Given the description of an element on the screen output the (x, y) to click on. 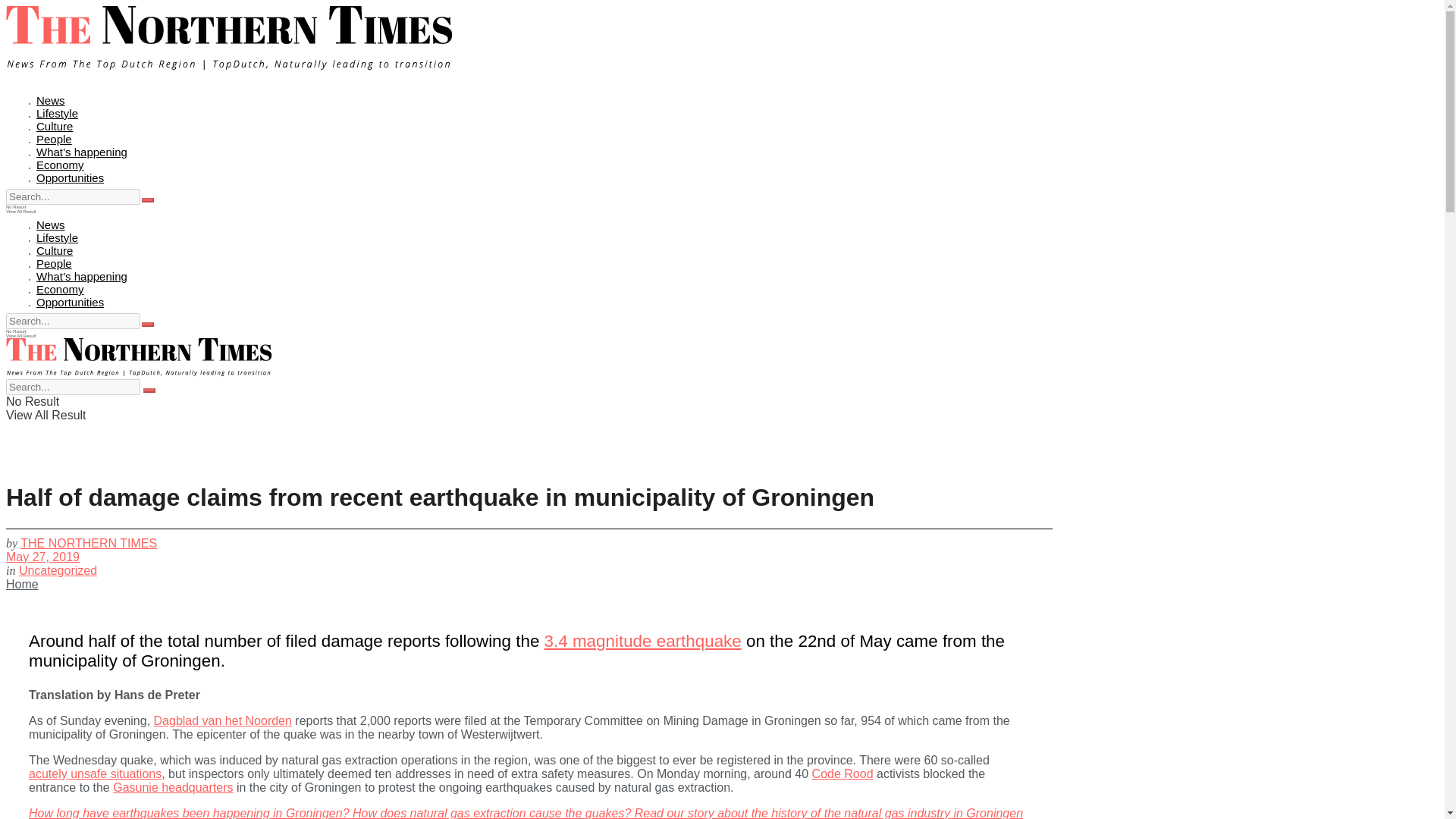
May 27, 2019 (42, 556)
Gasunie headquarters (172, 787)
People (53, 138)
3.4 magnitude earthquake (642, 640)
People (53, 263)
Economy (60, 288)
Dagblad van het Noorden (223, 720)
Opportunities (69, 177)
Lifestyle (57, 237)
THE NORTHERN TIMES (88, 543)
News (50, 100)
Home (22, 584)
Economy (60, 164)
Culture (54, 250)
